Given the description of an element on the screen output the (x, y) to click on. 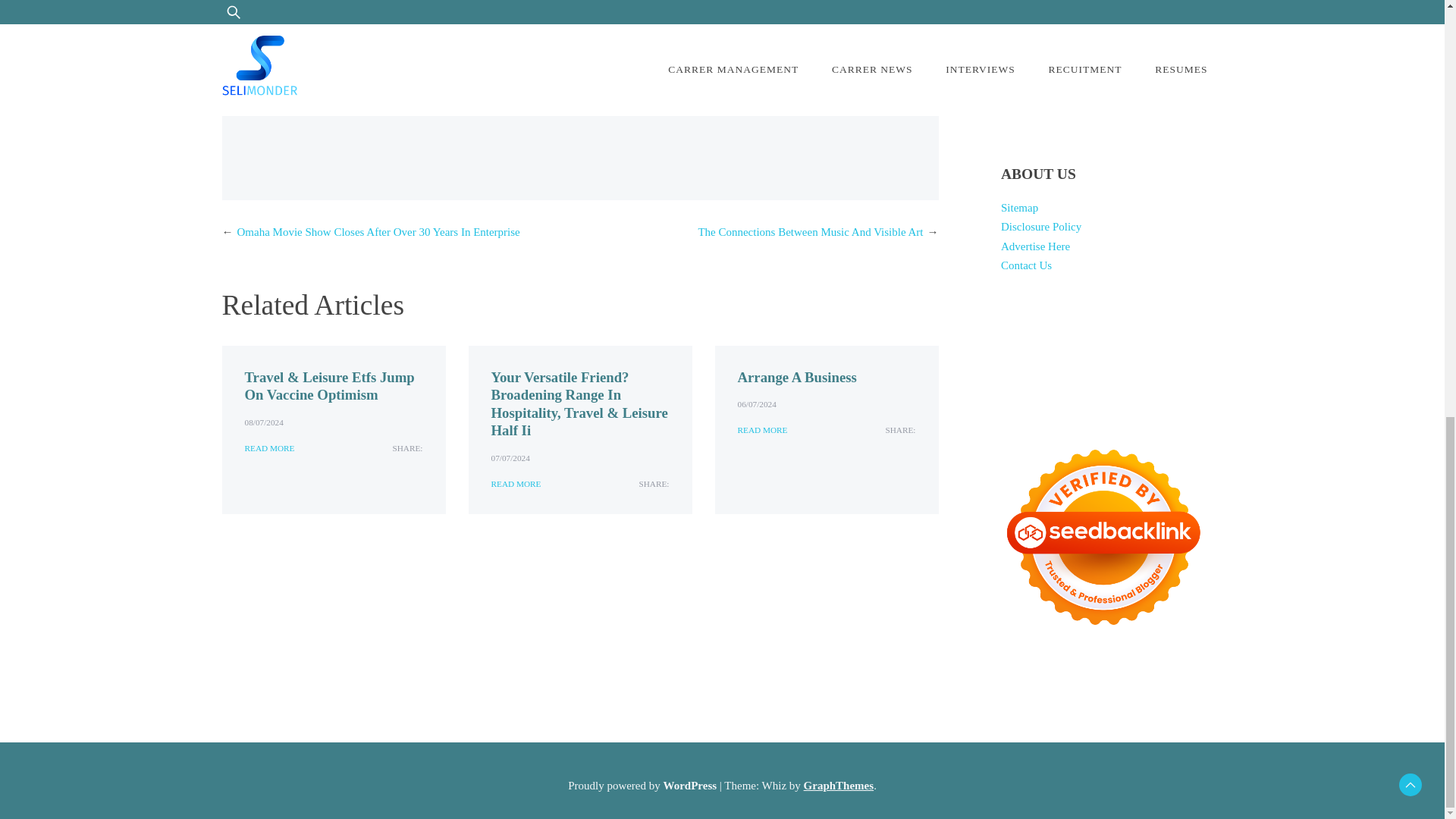
The Connections Between Music And Visible Art (810, 232)
READ MORE (269, 448)
Arrange A Business (796, 376)
Seedbacklink (1103, 536)
READ MORE (516, 483)
rizal (405, 53)
READ MORE (761, 430)
